Given the description of an element on the screen output the (x, y) to click on. 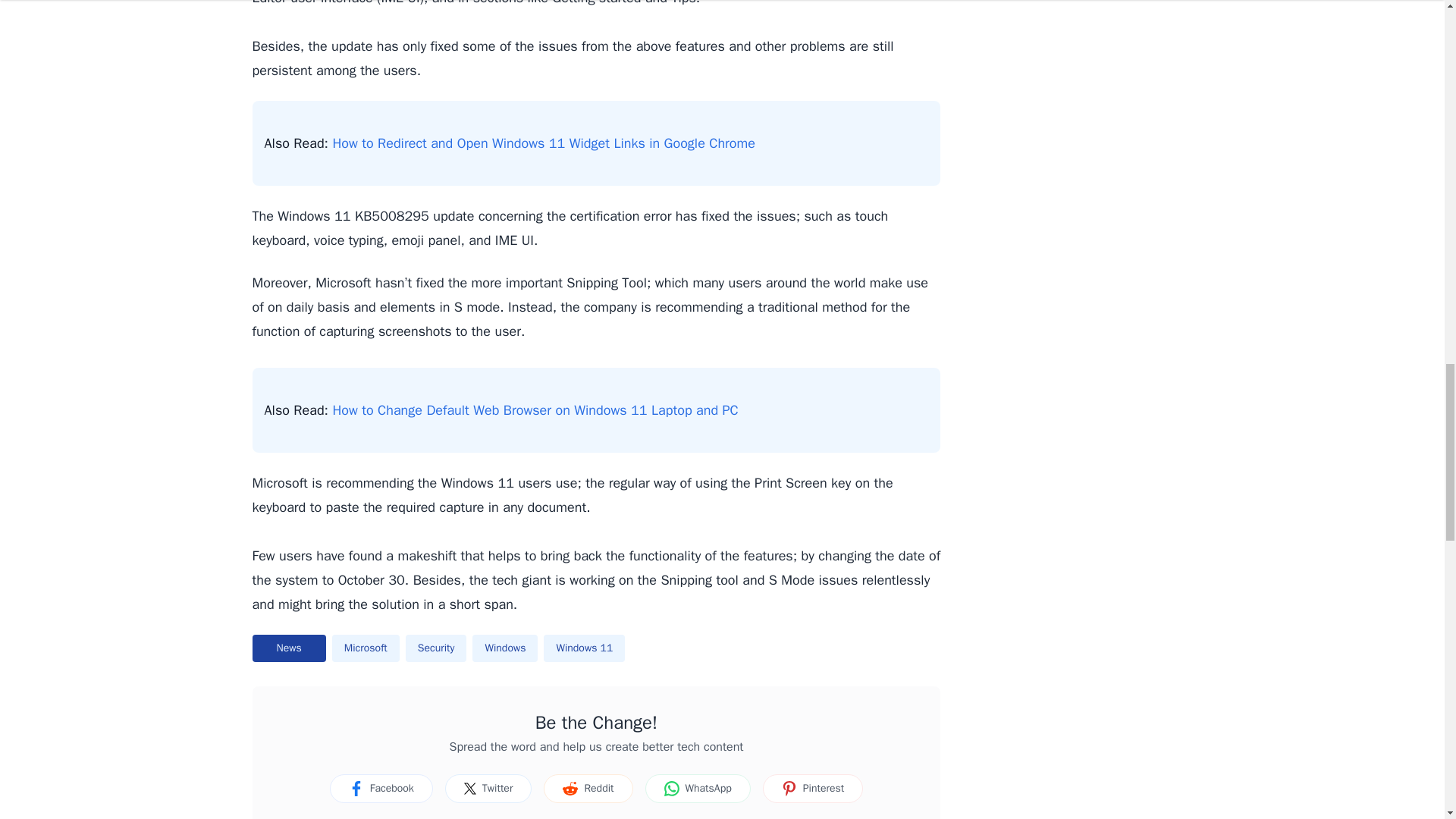
Windows (504, 647)
Reddit (587, 788)
News (287, 647)
Pinterest (812, 788)
Microsoft (364, 647)
View all posts in Windows 11 (583, 647)
Facebook (381, 788)
Twitter (488, 788)
View all posts in Microsoft (364, 647)
